Given the description of an element on the screen output the (x, y) to click on. 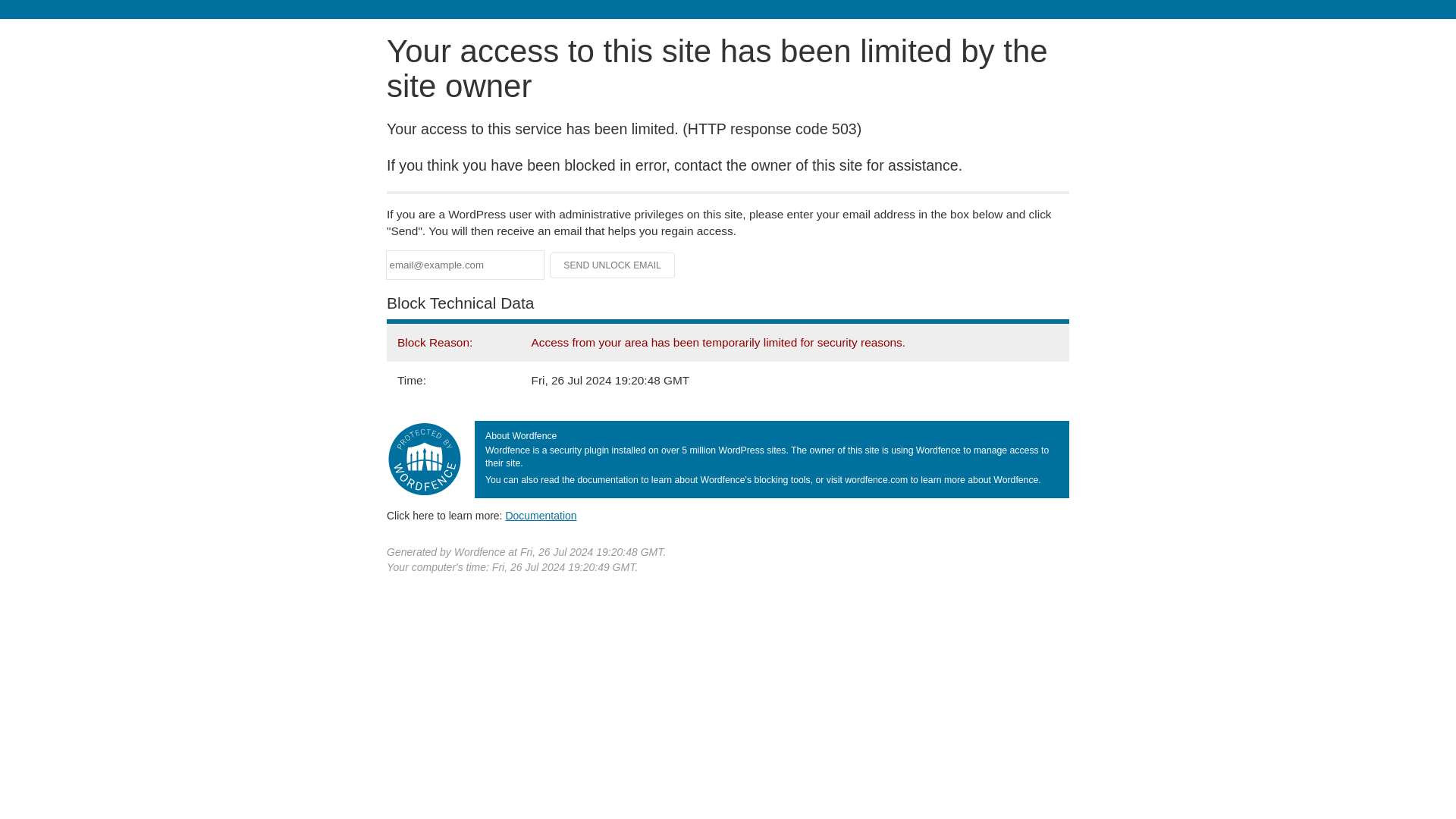
Send Unlock Email (612, 265)
Send Unlock Email (612, 265)
Documentation (540, 515)
